Given the description of an element on the screen output the (x, y) to click on. 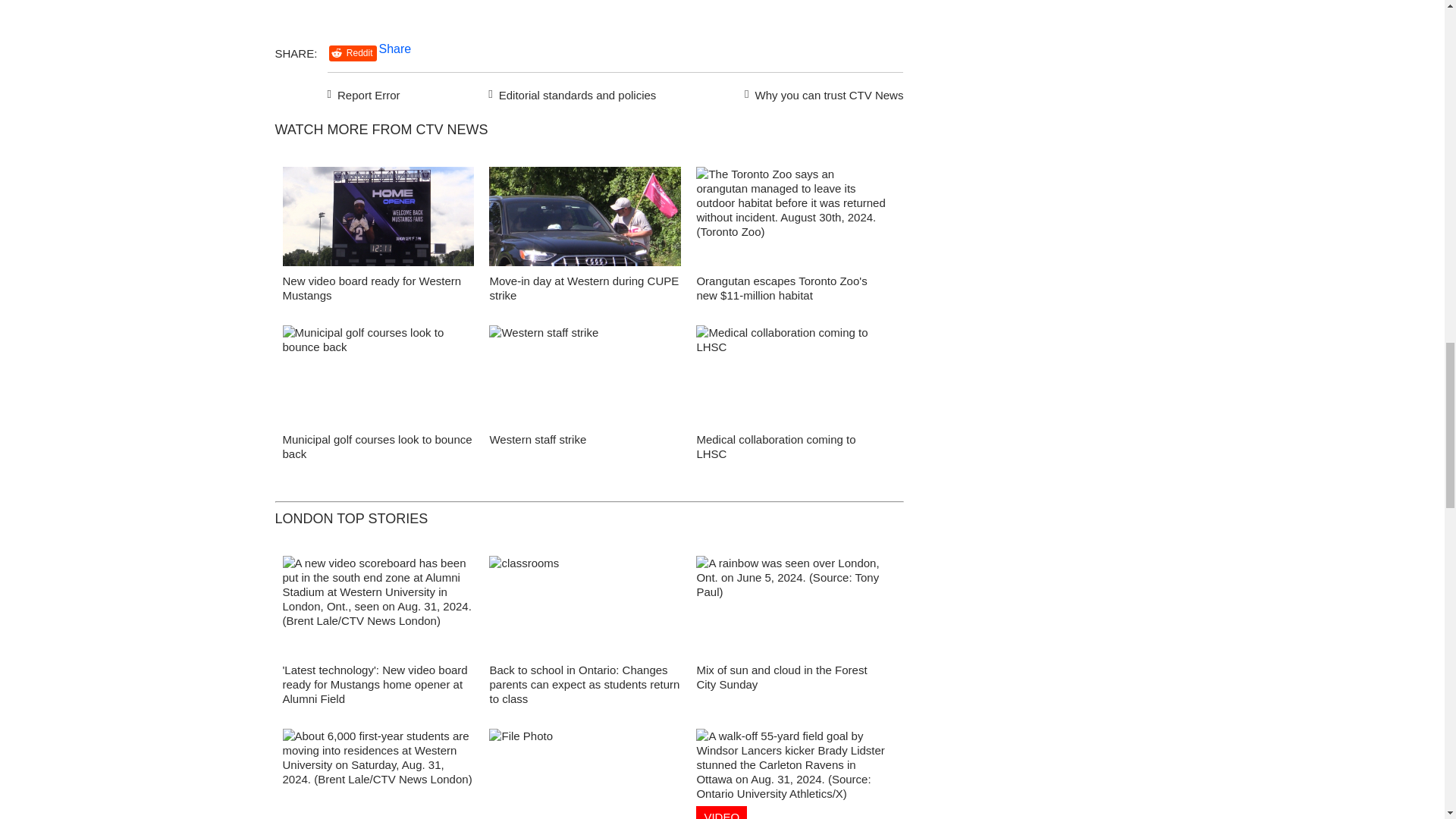
Report Error (363, 92)
Orangutan briefly escapes habitat (791, 220)
Western staff strike (537, 439)
MUSTANGS VIDEO SCOREBOARD (378, 220)
Medical collaboration coming to LHSC  (791, 379)
Municipal golf courses look to bounce back (376, 446)
Western staff strike  (585, 379)
Share (395, 48)
Reddit (353, 53)
New video board ready for Western Mustangs (371, 288)
